Given the description of an element on the screen output the (x, y) to click on. 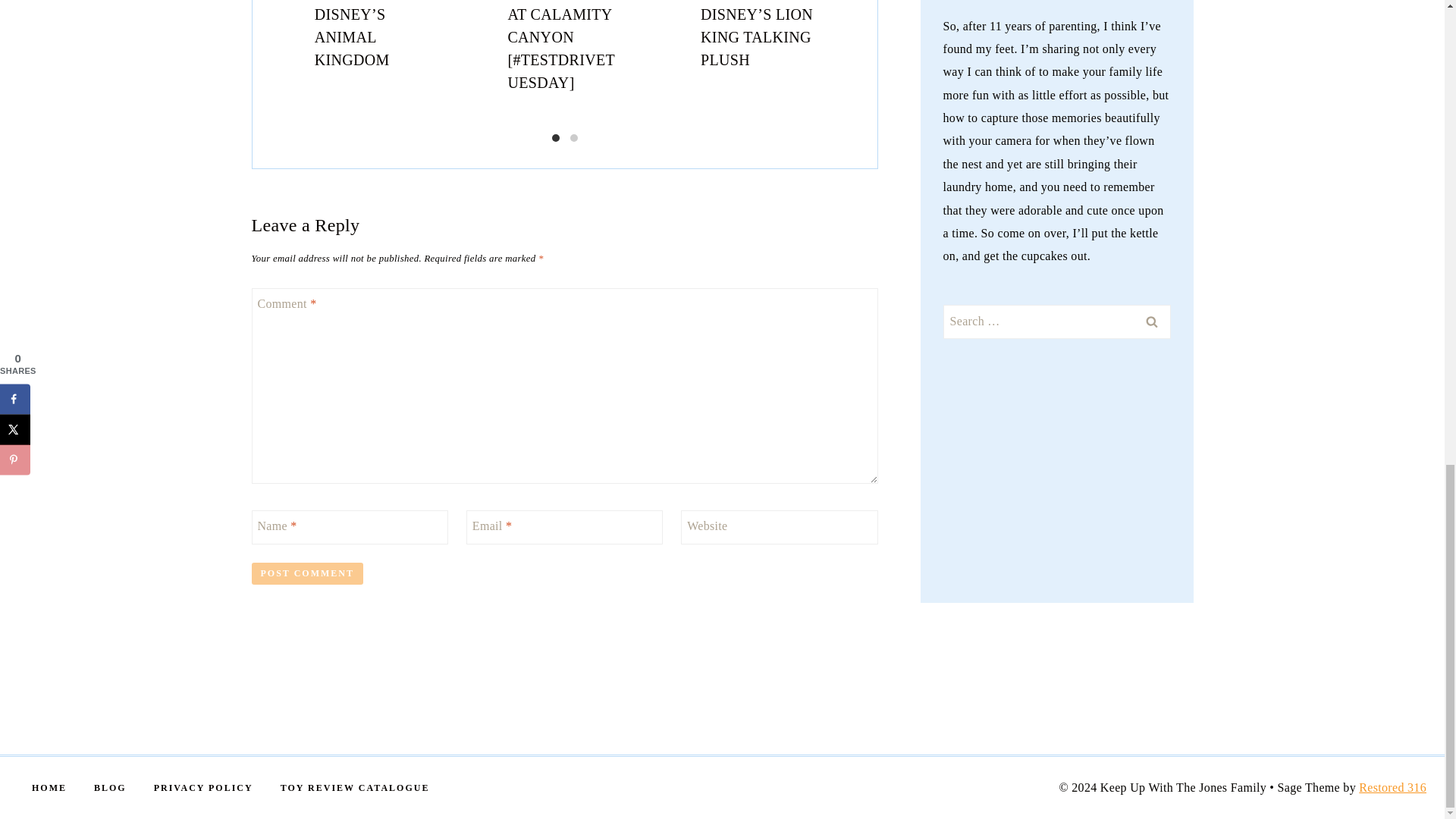
Post Comment (306, 573)
Search (1151, 321)
Search (1151, 321)
